Given the description of an element on the screen output the (x, y) to click on. 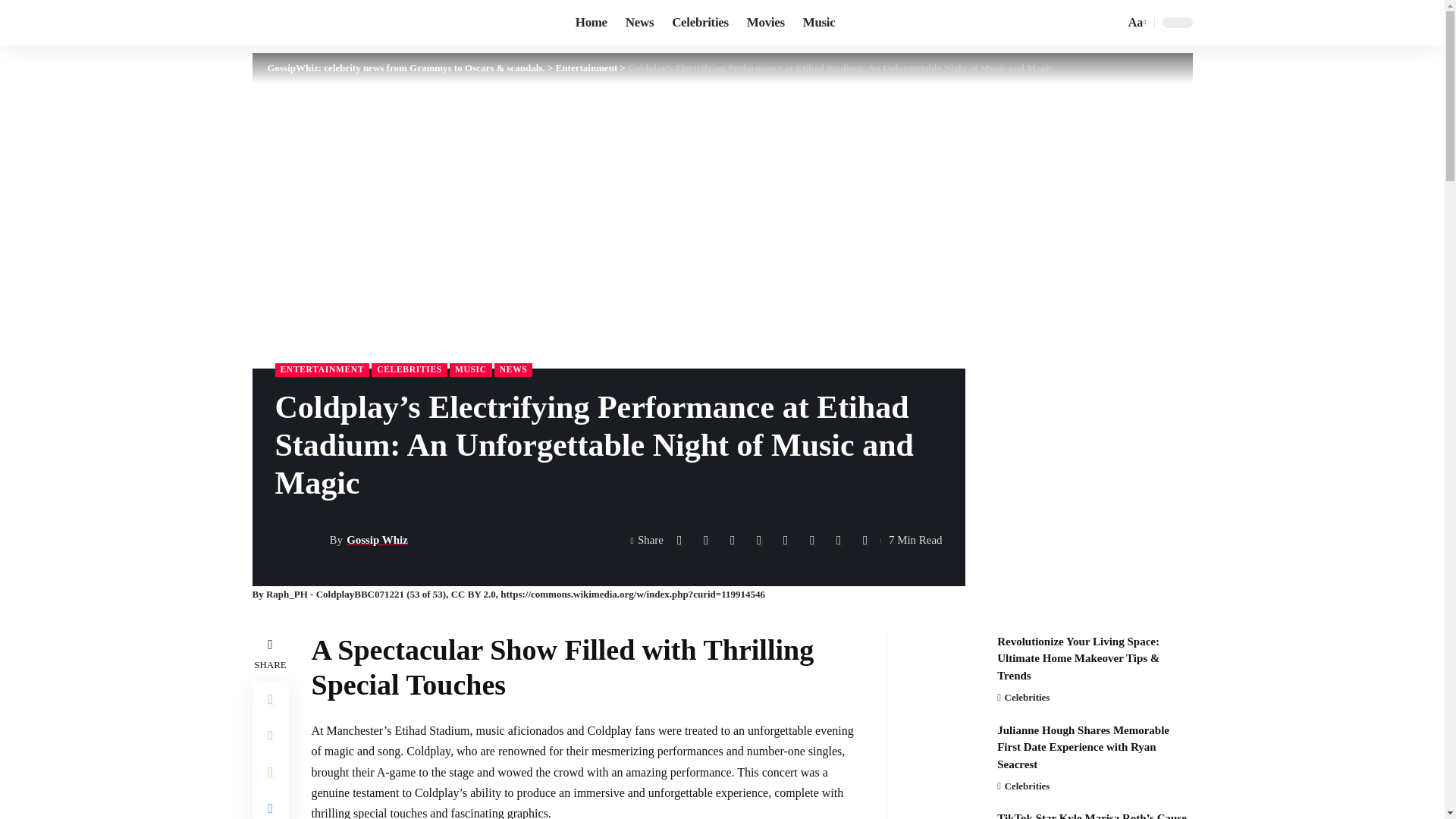
Aa (1135, 22)
News (638, 22)
Music (818, 22)
NEWS (513, 369)
MUSIC (470, 369)
Celebrities (700, 22)
CELEBRITIES (408, 369)
Gossip Whiz (376, 539)
Entertainment (586, 67)
